Given the description of an element on the screen output the (x, y) to click on. 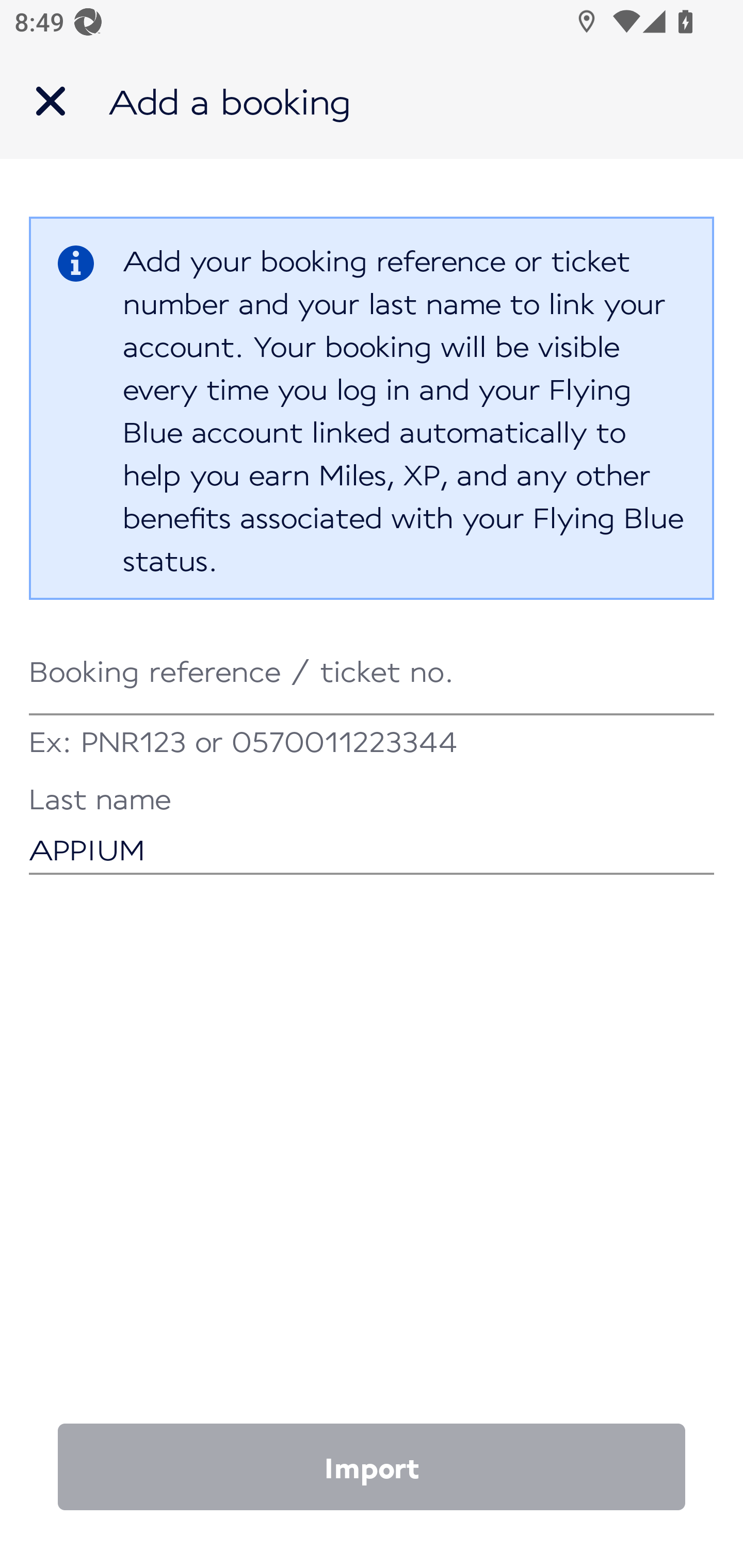
Booking reference / ticket no. (371, 671)
APPIUM (371, 831)
Import (371, 1466)
